Given the description of an element on the screen output the (x, y) to click on. 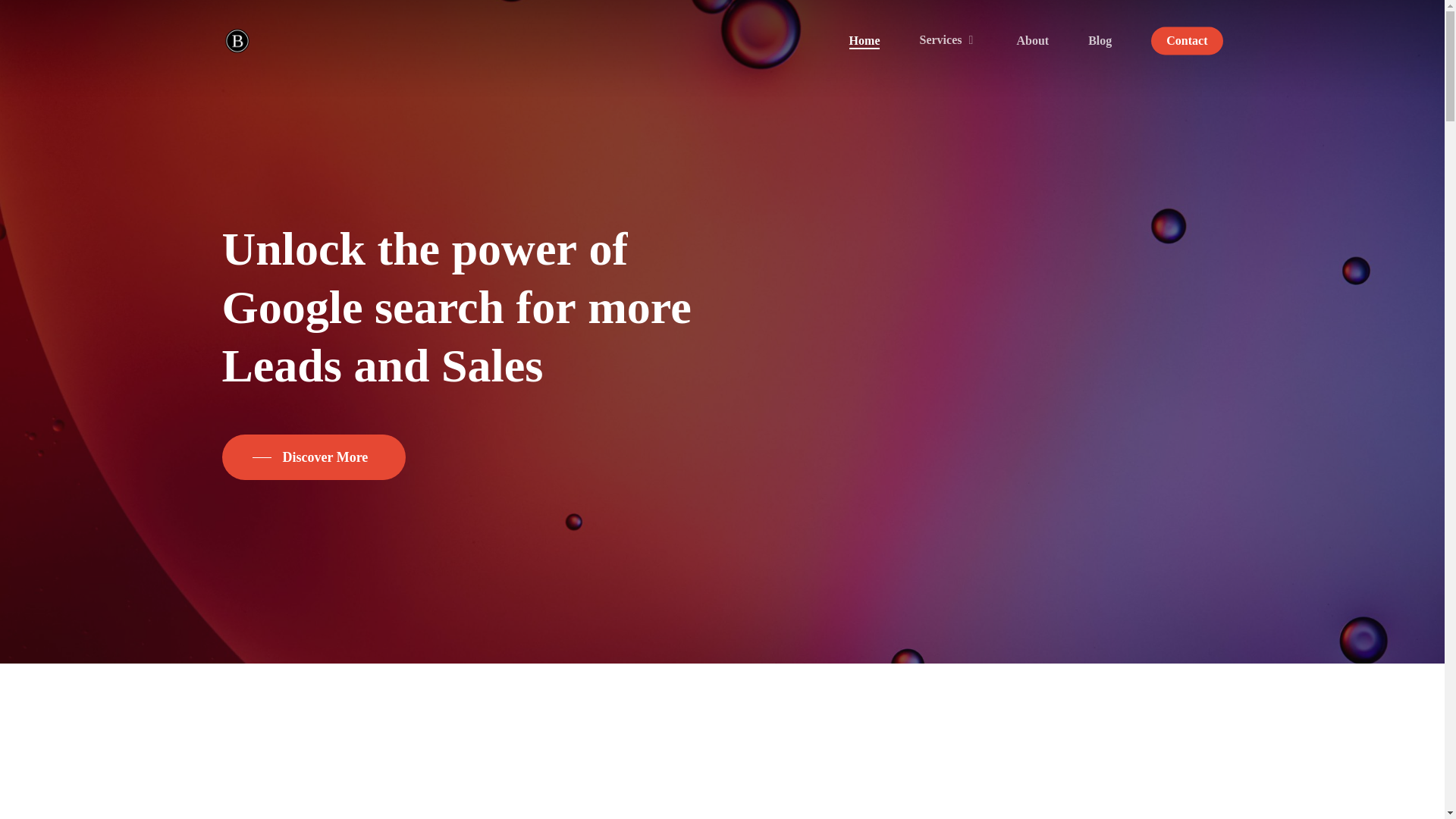
Home (864, 40)
Services (947, 40)
Discover More (313, 456)
Contact (1187, 40)
About (1032, 40)
Blog (1099, 40)
